Given the description of an element on the screen output the (x, y) to click on. 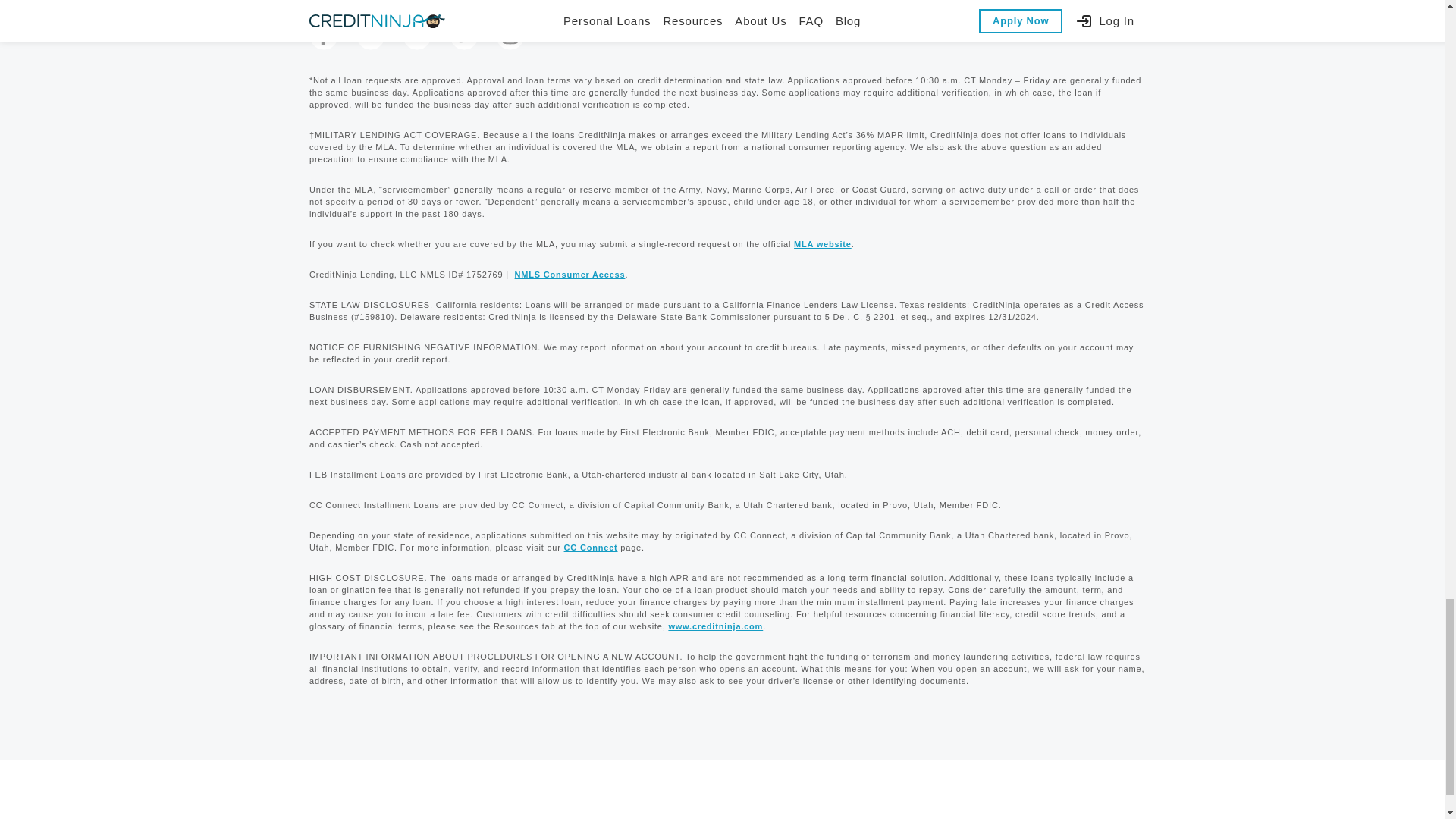
Facebook (322, 35)
Twitter (462, 35)
YouTube (416, 35)
LinkedIn (370, 35)
Instagram (510, 35)
